Given the description of an element on the screen output the (x, y) to click on. 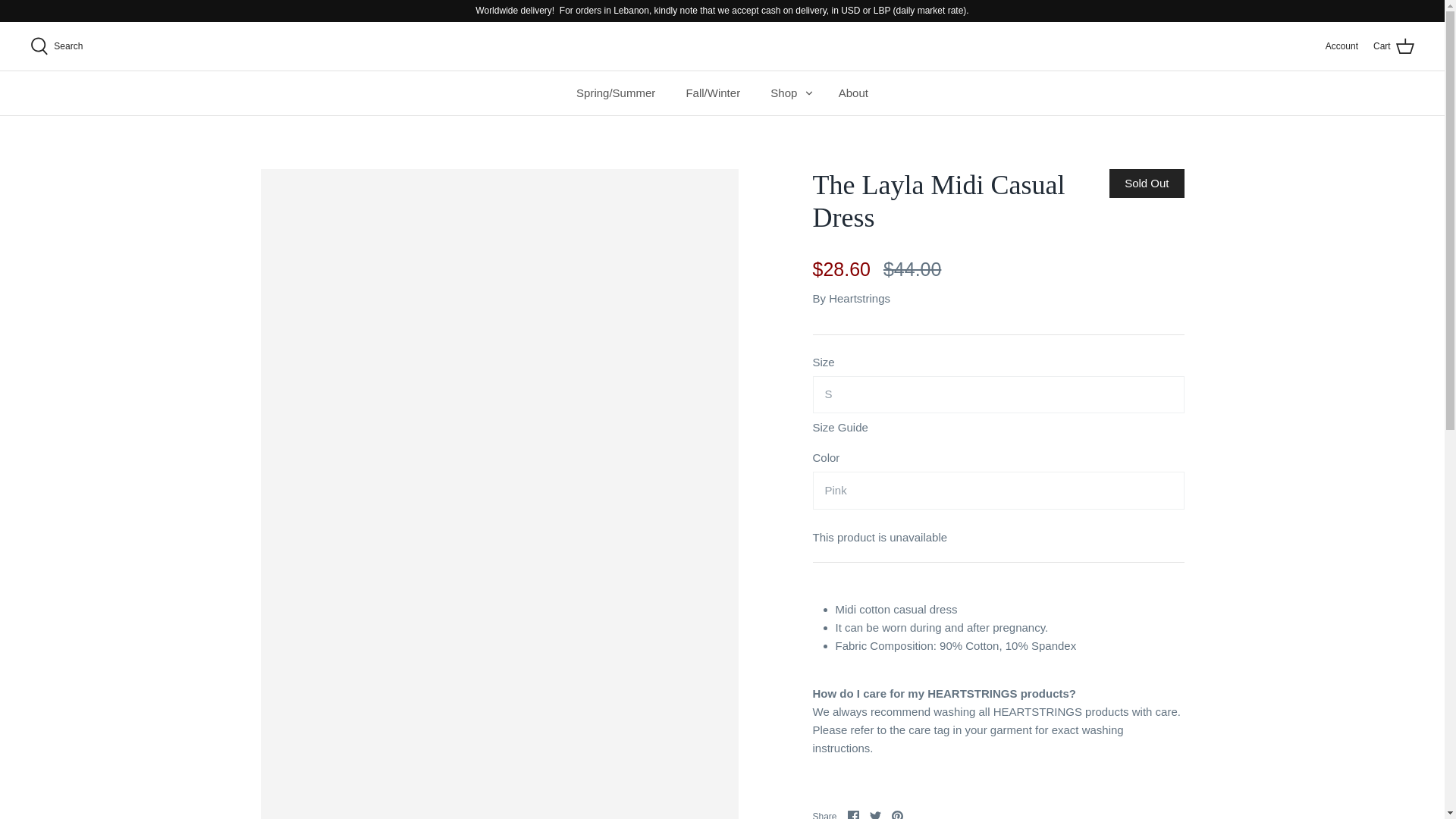
Cart (1393, 45)
Twitter (874, 814)
Toggle menu (808, 92)
Search (56, 45)
About (853, 93)
Account (1341, 45)
Facebook (853, 814)
Heartstrings (858, 297)
Pinterest (896, 814)
Shop (783, 93)
